Given the description of an element on the screen output the (x, y) to click on. 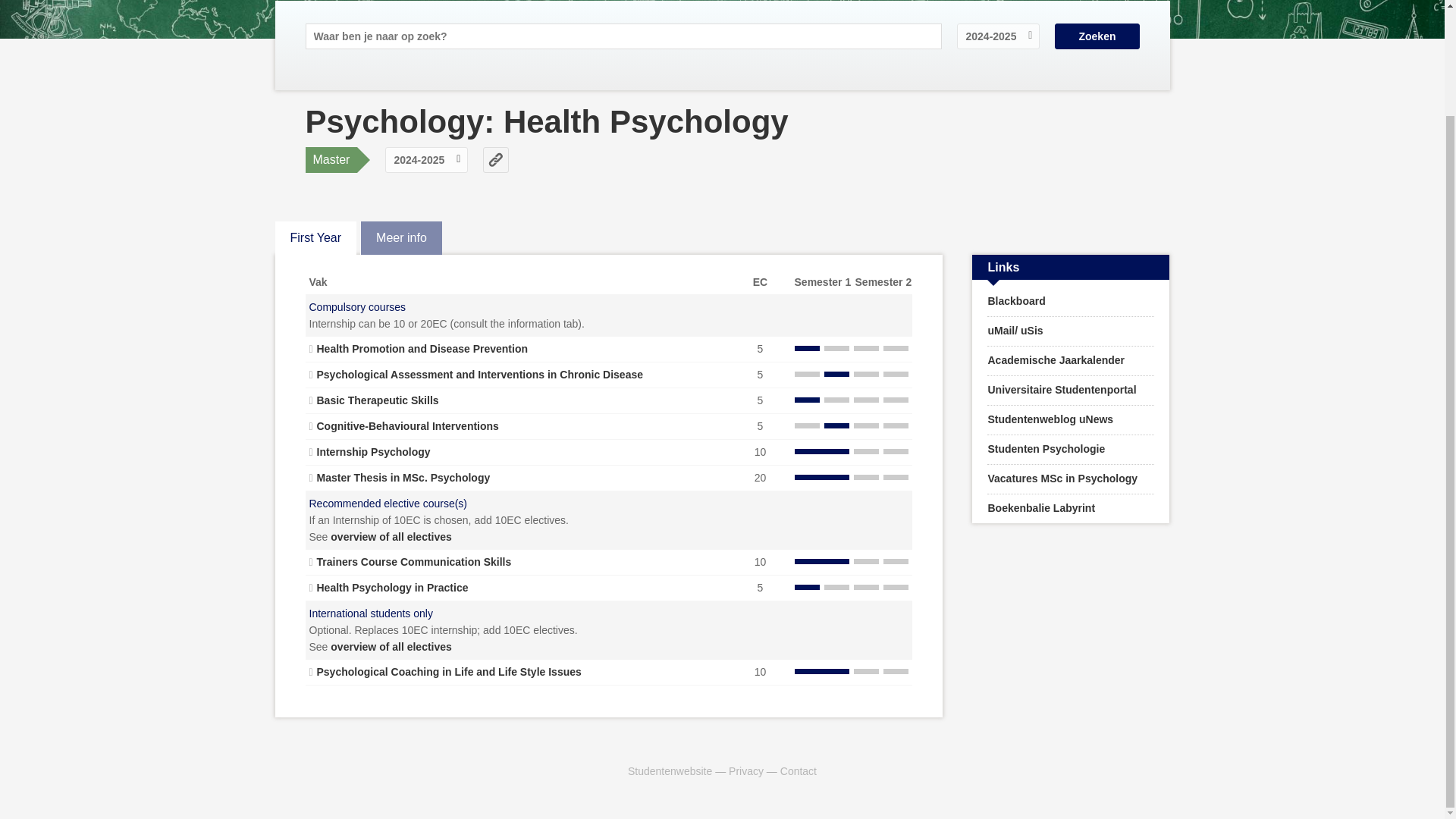
Contact (798, 770)
First Year (315, 237)
Trainers Course Communication Skills (414, 562)
Meer info (400, 237)
Boekenbalie Labyrint (1070, 508)
Studentenweblog uNews (1070, 419)
Basic Therapeutic Skills (378, 399)
Vacatures MSc in Psychology (1070, 479)
Blackboard (1070, 301)
Health Promotion and Disease Prevention (422, 348)
Internship Psychology (373, 451)
Studentenwebsite (669, 770)
overview of all electives (390, 646)
Academische Jaarkalender (1070, 360)
Psychological Coaching in Life and Life Style Issues (448, 671)
